Given the description of an element on the screen output the (x, y) to click on. 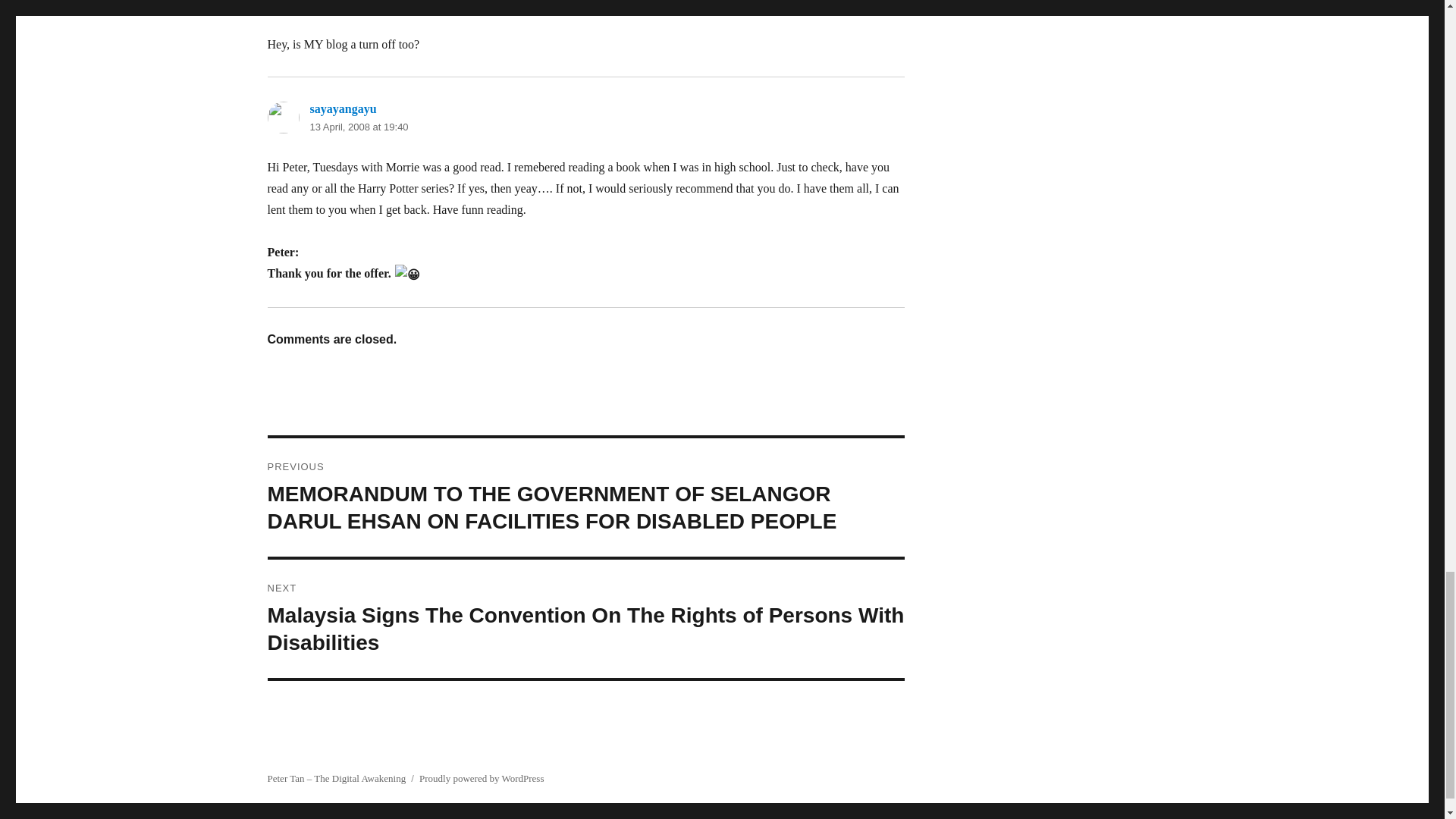
13 April, 2008 at 19:40 (357, 126)
sayayangayu (341, 108)
